Given the description of an element on the screen output the (x, y) to click on. 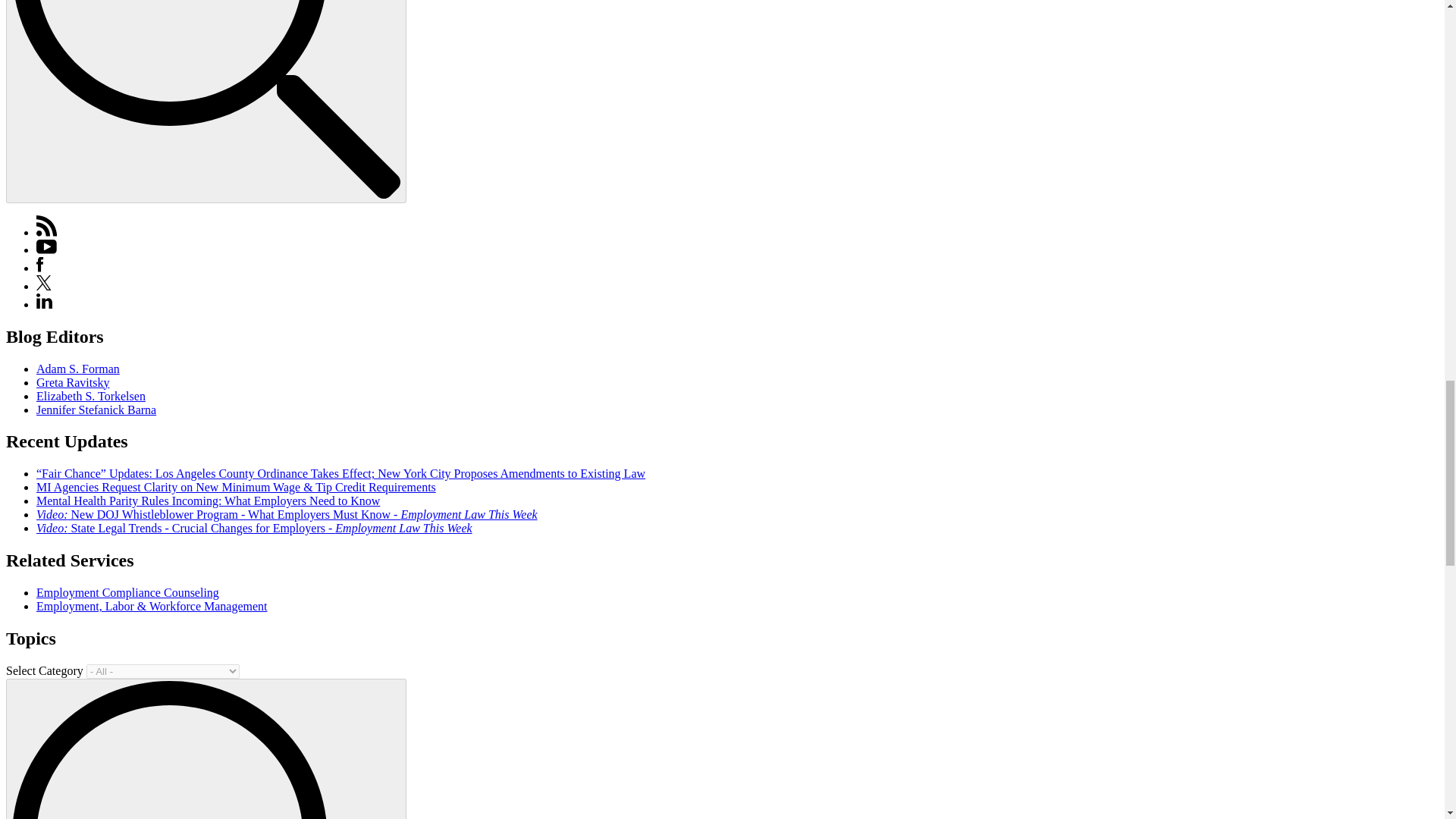
Youtube (46, 249)
Linkedin (44, 304)
Twitter (43, 282)
Greta Ravitsky (72, 382)
Twitter (43, 286)
Elizabeth S. Torkelsen (90, 395)
Search (205, 99)
Adam S. Forman (77, 368)
Linkedin (44, 300)
